Given the description of an element on the screen output the (x, y) to click on. 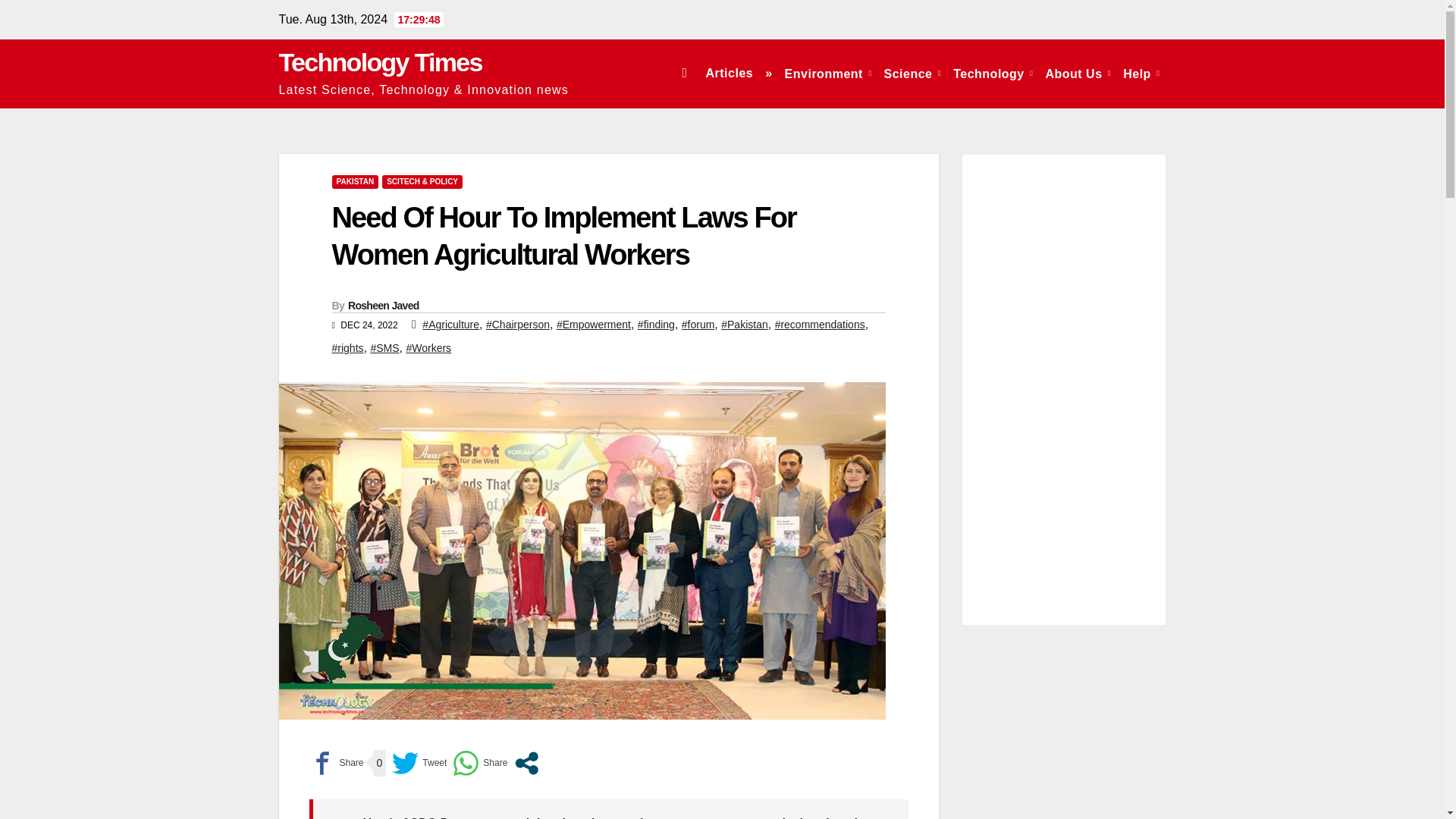
Technology Times (380, 61)
Science (912, 73)
Technology (993, 73)
Technology (993, 73)
Science (912, 73)
Environment (827, 73)
About Us (1077, 73)
Environment (827, 73)
